Given the description of an element on the screen output the (x, y) to click on. 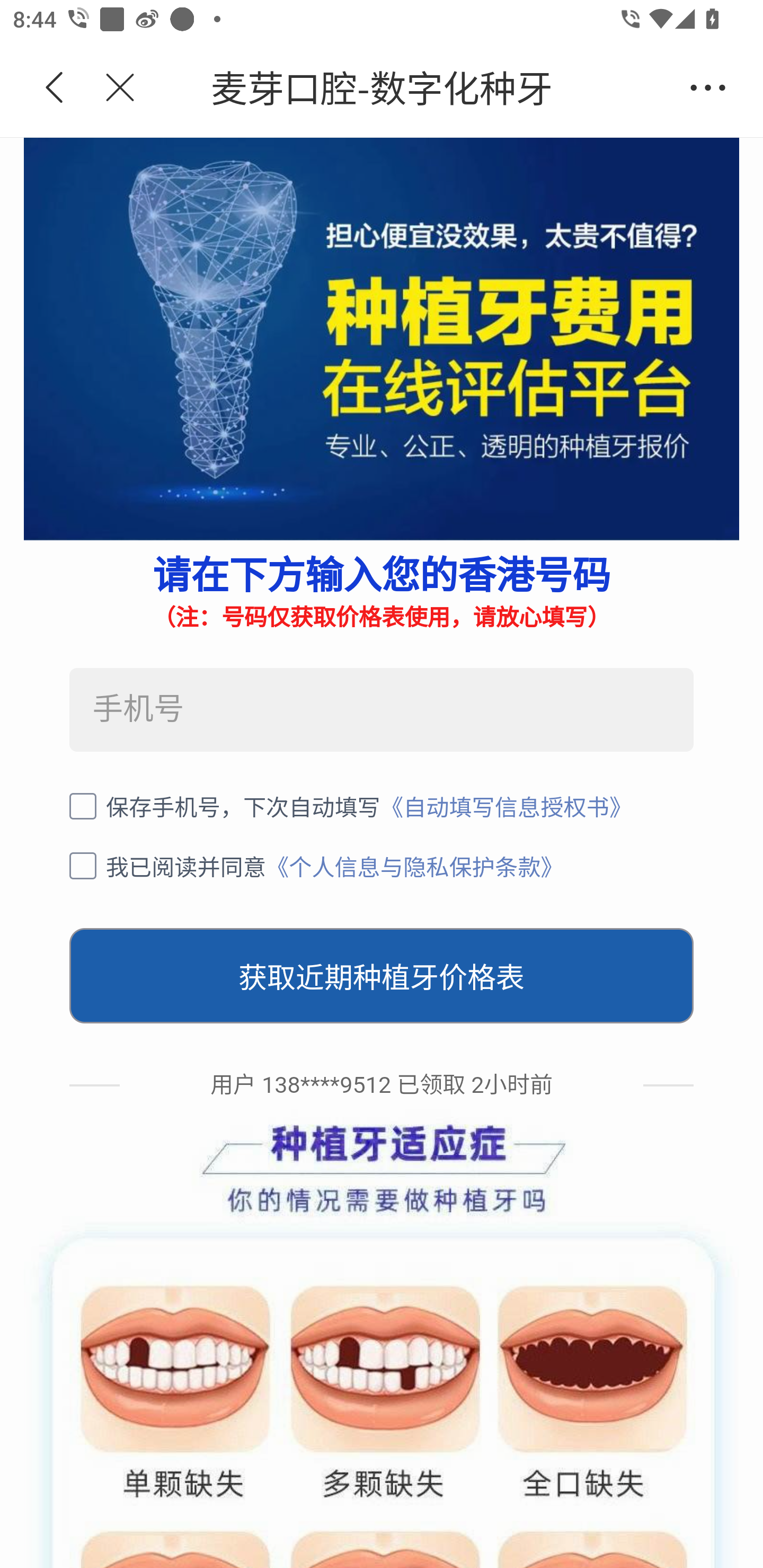
 (109, 87)
麦芽口腔-数字化种牙 (411, 87)
 返回 (54, 87)
 更多 (707, 87)
保存手机号，下次自动填写 (224, 806)
《自动填写信息授权书》 (505, 806)
我已阅读并同意 (167, 865)
《个人信息与隐私保护条款》 (414, 865)
获取近期种植牙价格表 (381, 975)
